Given the description of an element on the screen output the (x, y) to click on. 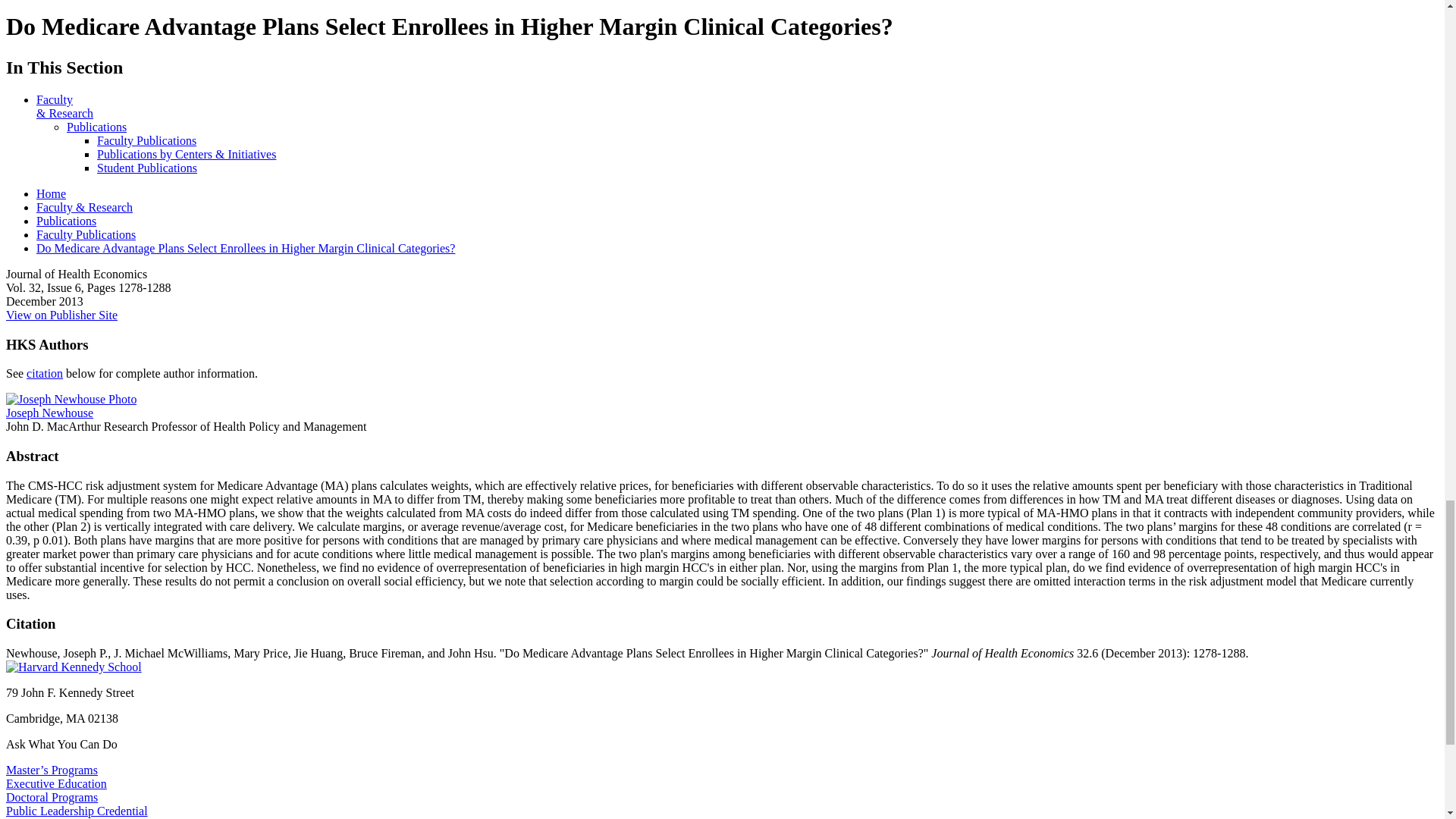
Harvard Kennedy School (73, 667)
Student Publications at HKS (146, 167)
Publications at HKS (96, 126)
